Given the description of an element on the screen output the (x, y) to click on. 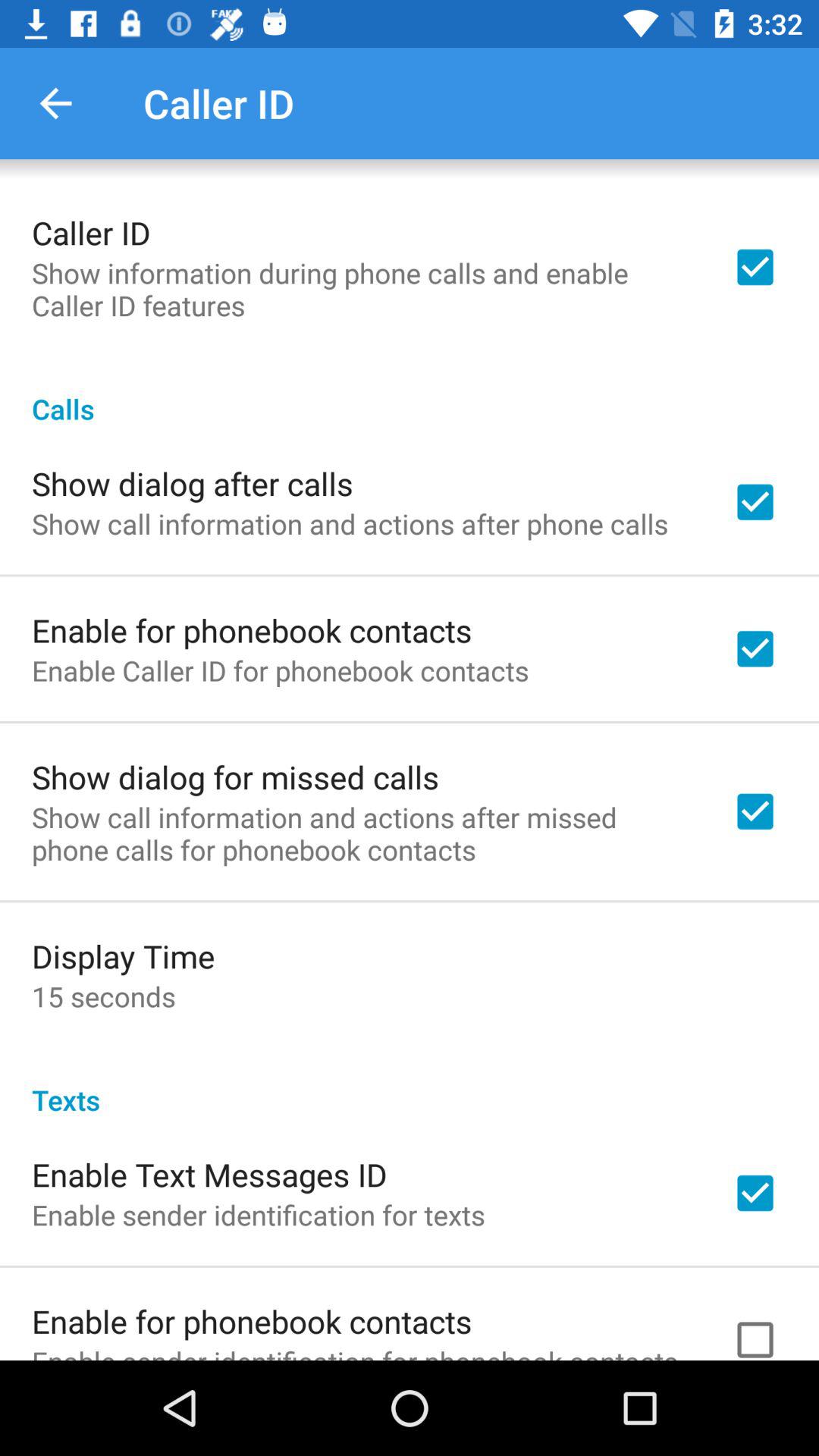
flip to 15 seconds (103, 996)
